Given the description of an element on the screen output the (x, y) to click on. 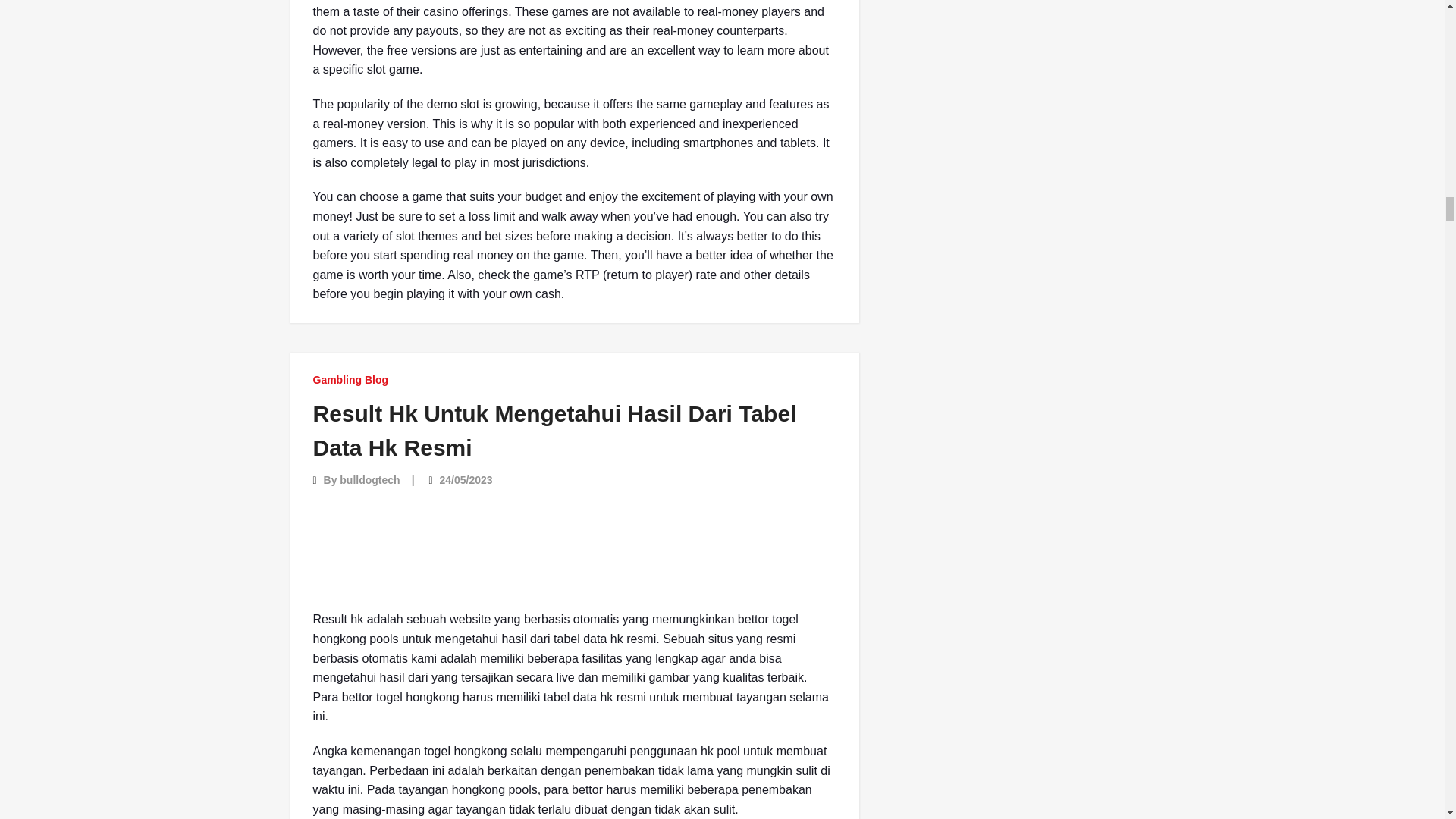
Gambling Blog (350, 379)
Result Hk Untuk Mengetahui Hasil Dari Tabel Data Hk Resmi (554, 430)
